Given the description of an element on the screen output the (x, y) to click on. 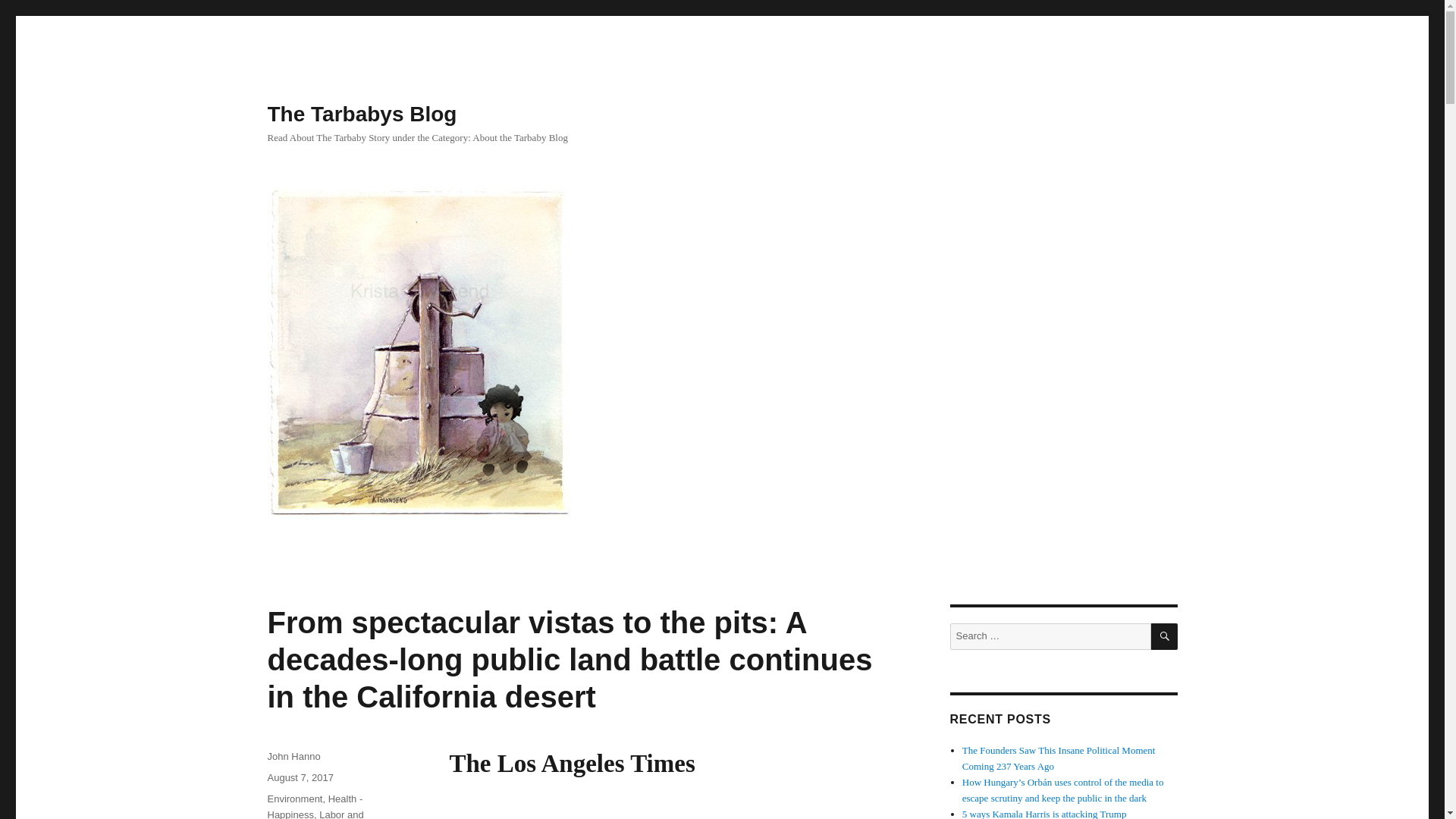
The Tarbabys Blog (361, 114)
Environment (293, 798)
Health - Happiness (314, 806)
SEARCH (1164, 636)
5 ways Kamala Harris is attacking Trump (1044, 813)
John Hanno (293, 756)
August 7, 2017 (299, 777)
Labor and Working (314, 814)
